Given the description of an element on the screen output the (x, y) to click on. 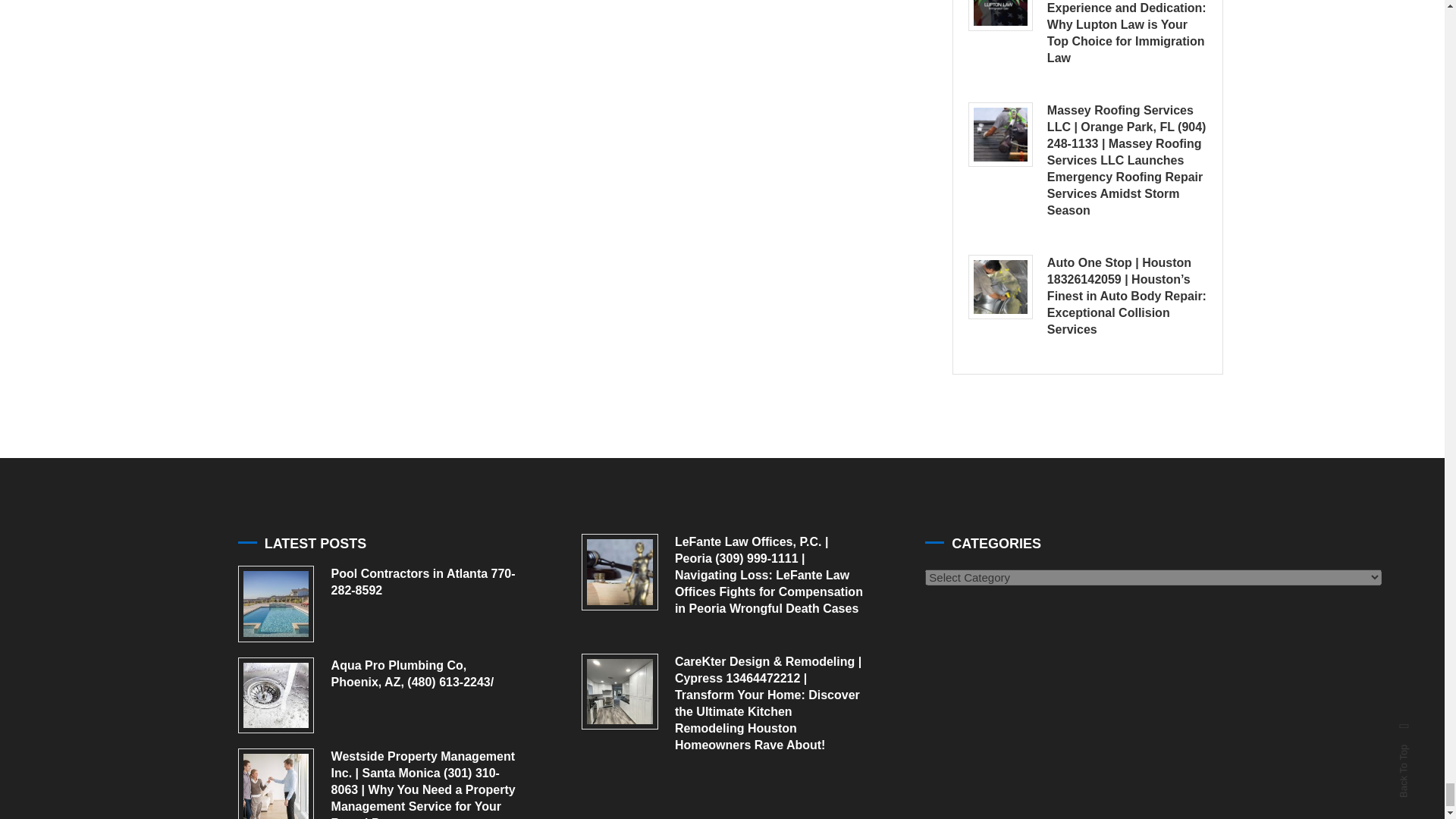
Pool Contractors in Atlanta 770-282-8592 (276, 603)
